Given the description of an element on the screen output the (x, y) to click on. 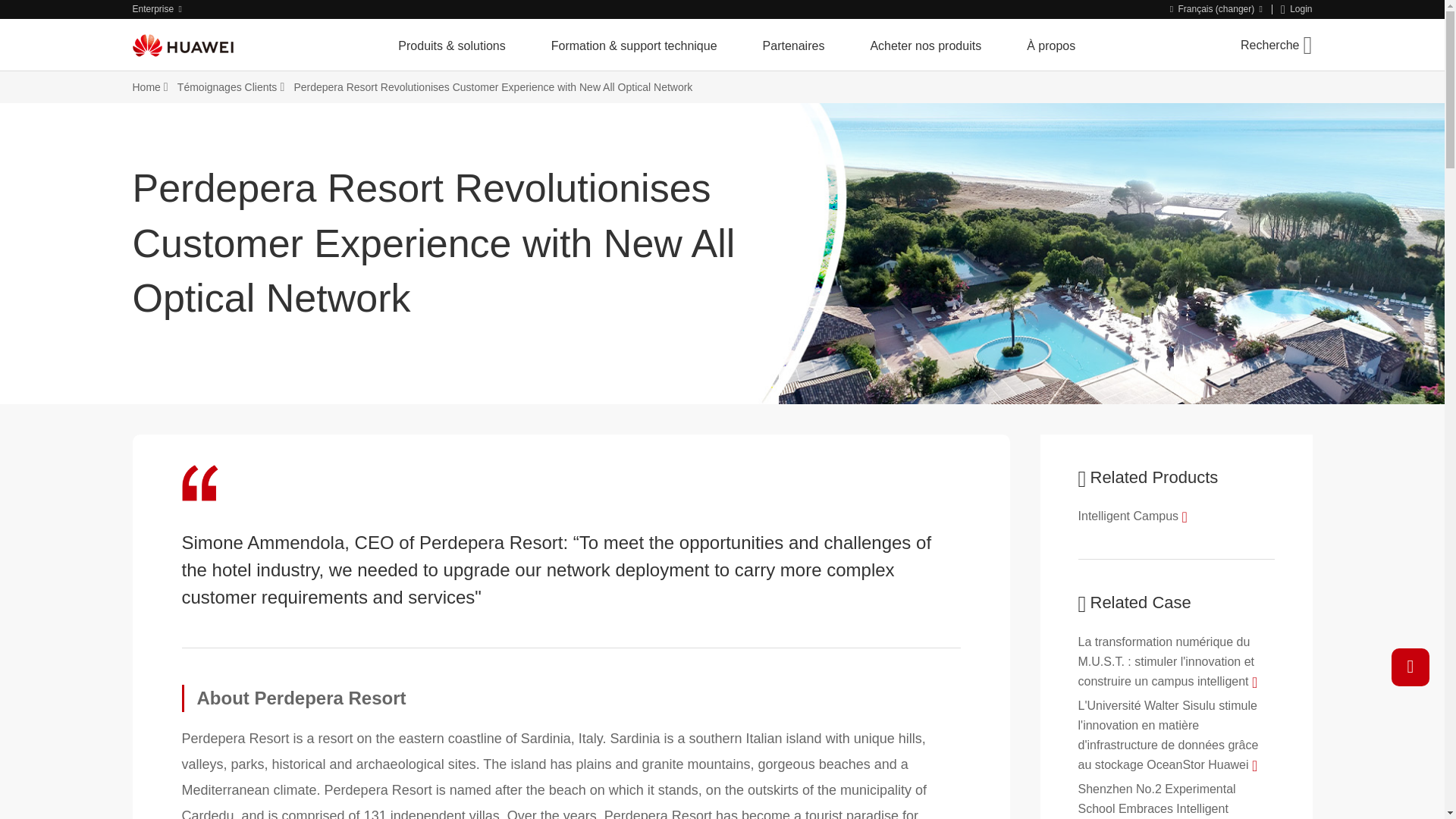
Huawei (182, 44)
About Perdepera Resort (571, 697)
Login (1296, 9)
